Given the description of an element on the screen output the (x, y) to click on. 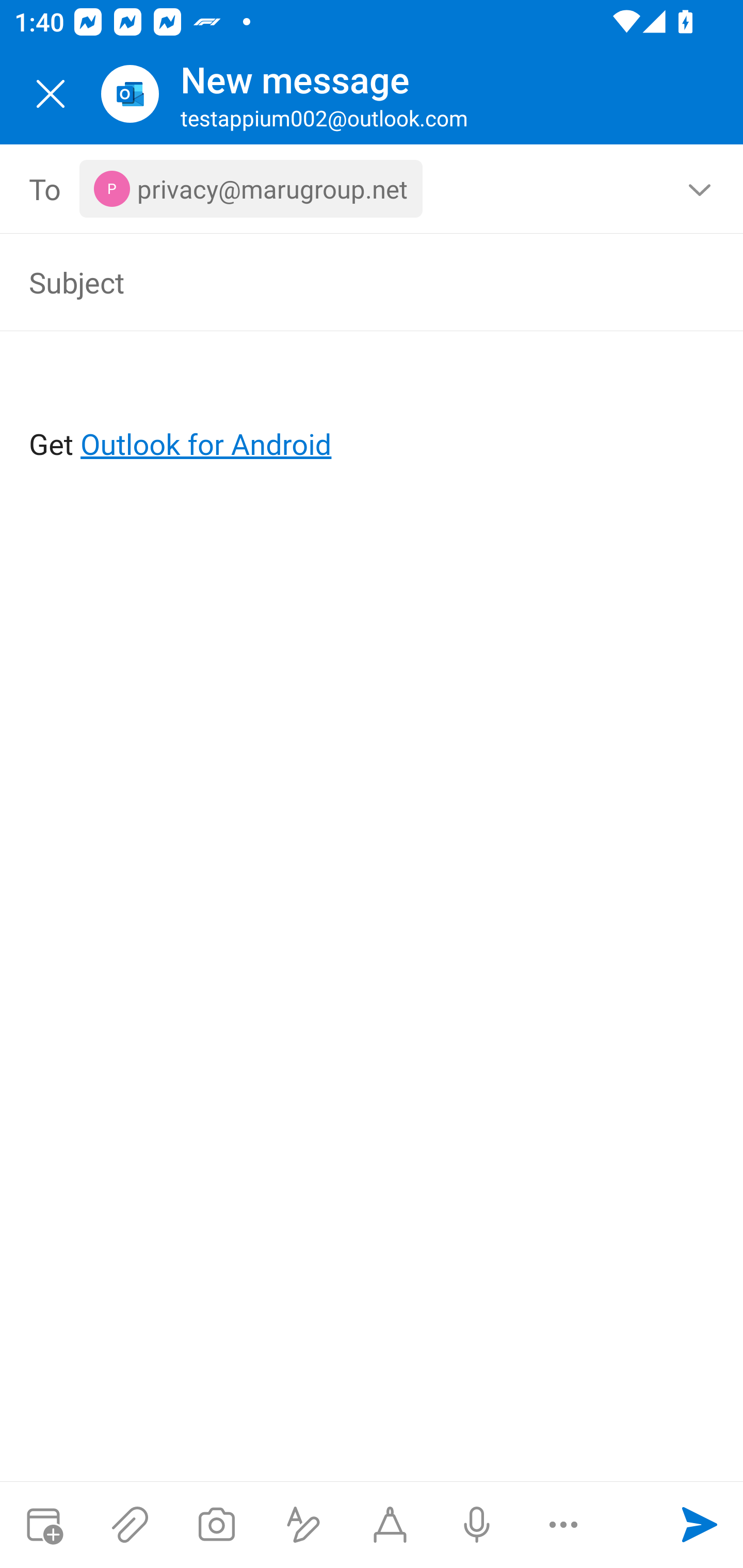
Close (50, 93)
Subject (342, 281)


Get Outlook for Android (372, 411)
Attach meeting (43, 1524)
Attach files (129, 1524)
Take a photo (216, 1524)
Show formatting options (303, 1524)
Start Ink compose (389, 1524)
Dictation (476, 1524)
More options (563, 1524)
Send (699, 1524)
